Given the description of an element on the screen output the (x, y) to click on. 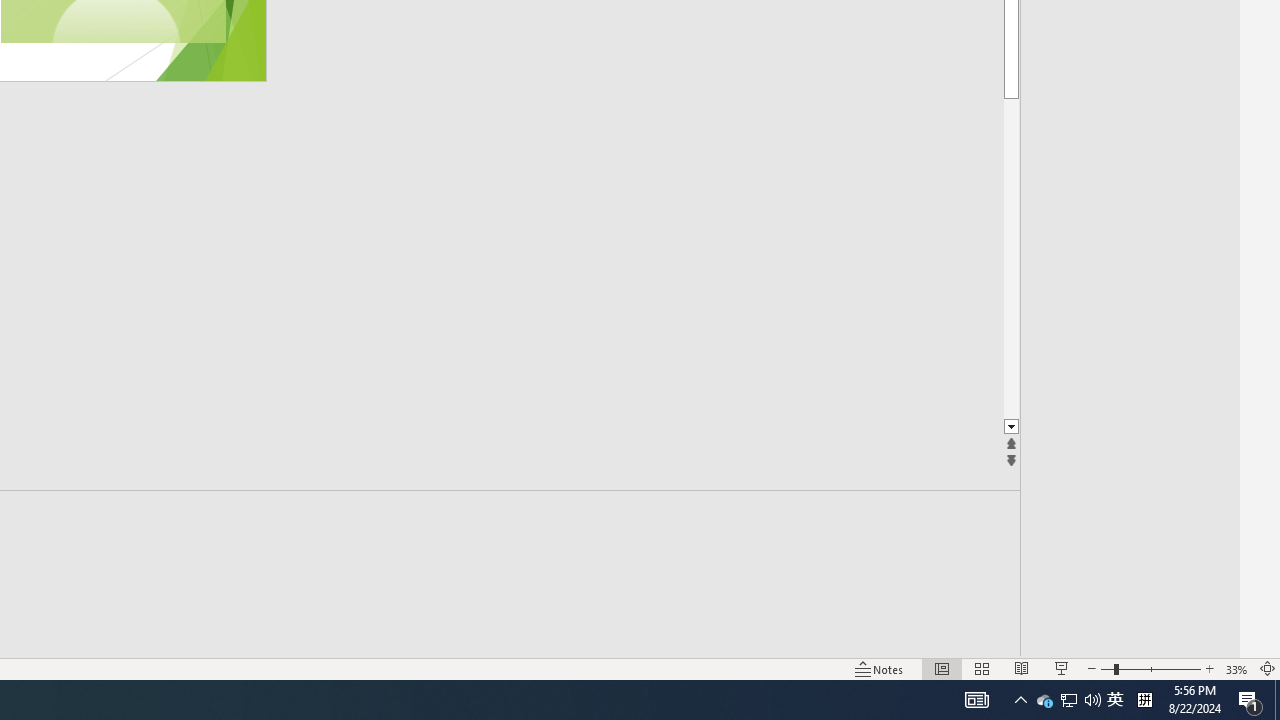
Zoom 33% (1236, 668)
